Given the description of an element on the screen output the (x, y) to click on. 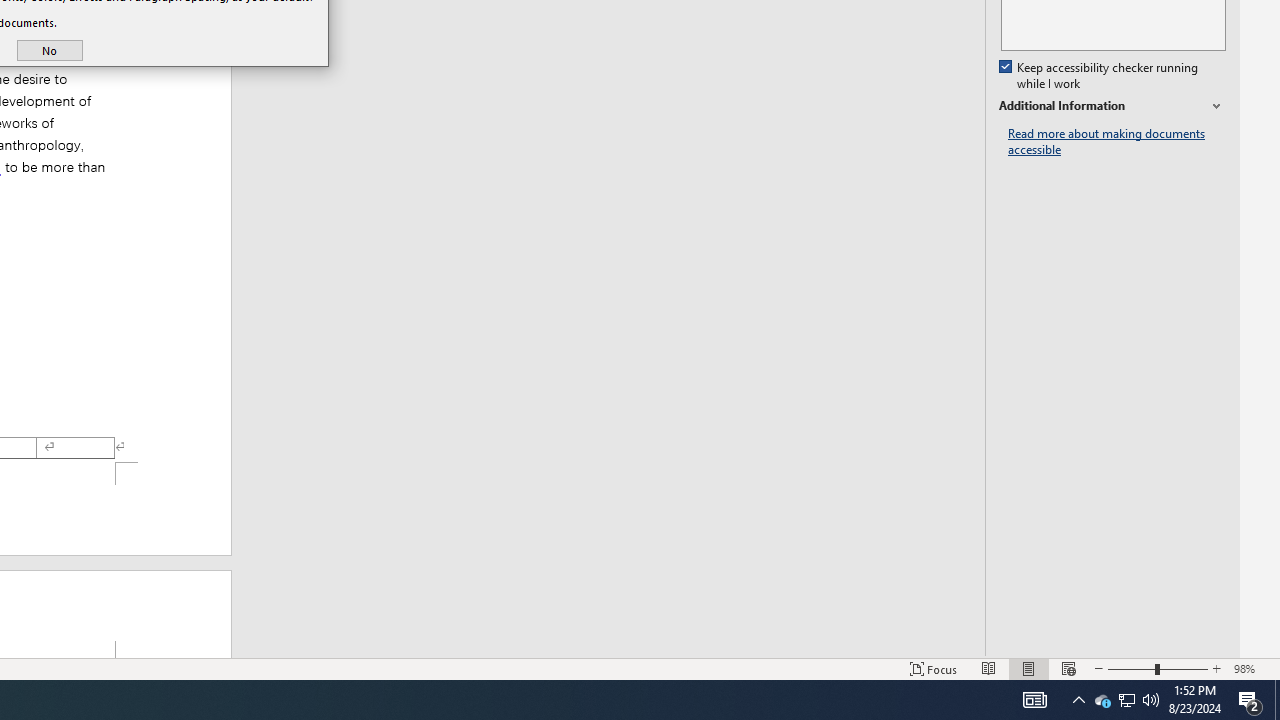
Q2790: 100% (1151, 699)
No (49, 49)
Keep accessibility checker running while I work (1099, 76)
User Promoted Notification Area (1102, 699)
Read more about making documents accessible (1126, 699)
Show desktop (1117, 142)
